Given the description of an element on the screen output the (x, y) to click on. 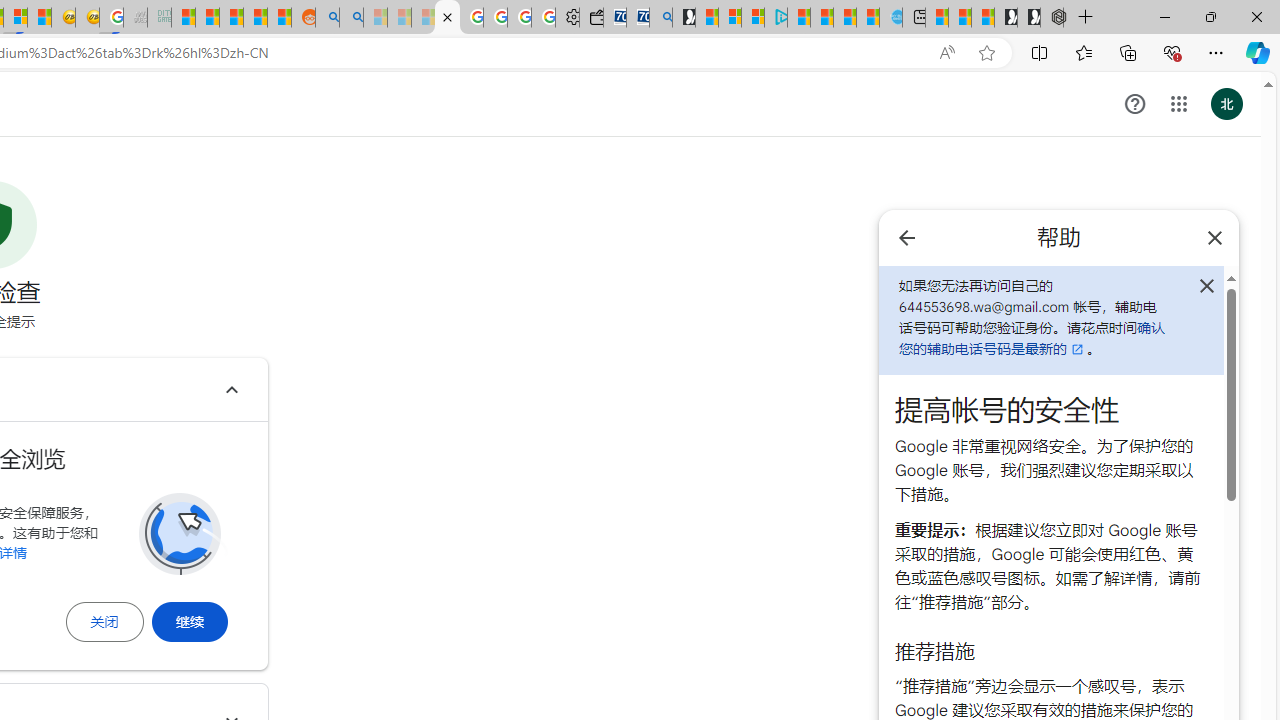
Wallet (590, 17)
